Given the description of an element on the screen output the (x, y) to click on. 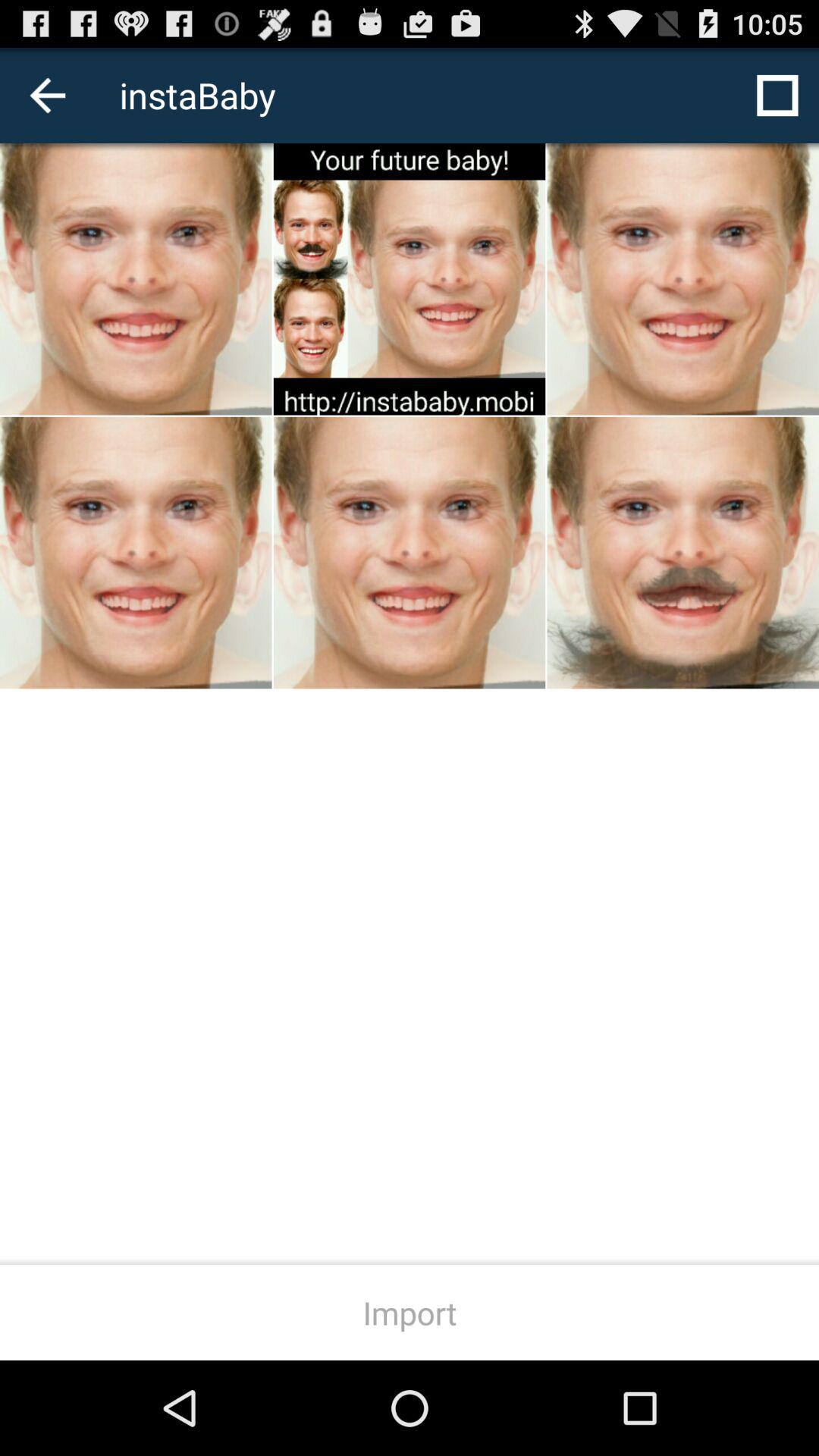
click on the third image in the second row (683, 552)
click on the icon at top right corner (777, 95)
